Given the description of an element on the screen output the (x, y) to click on. 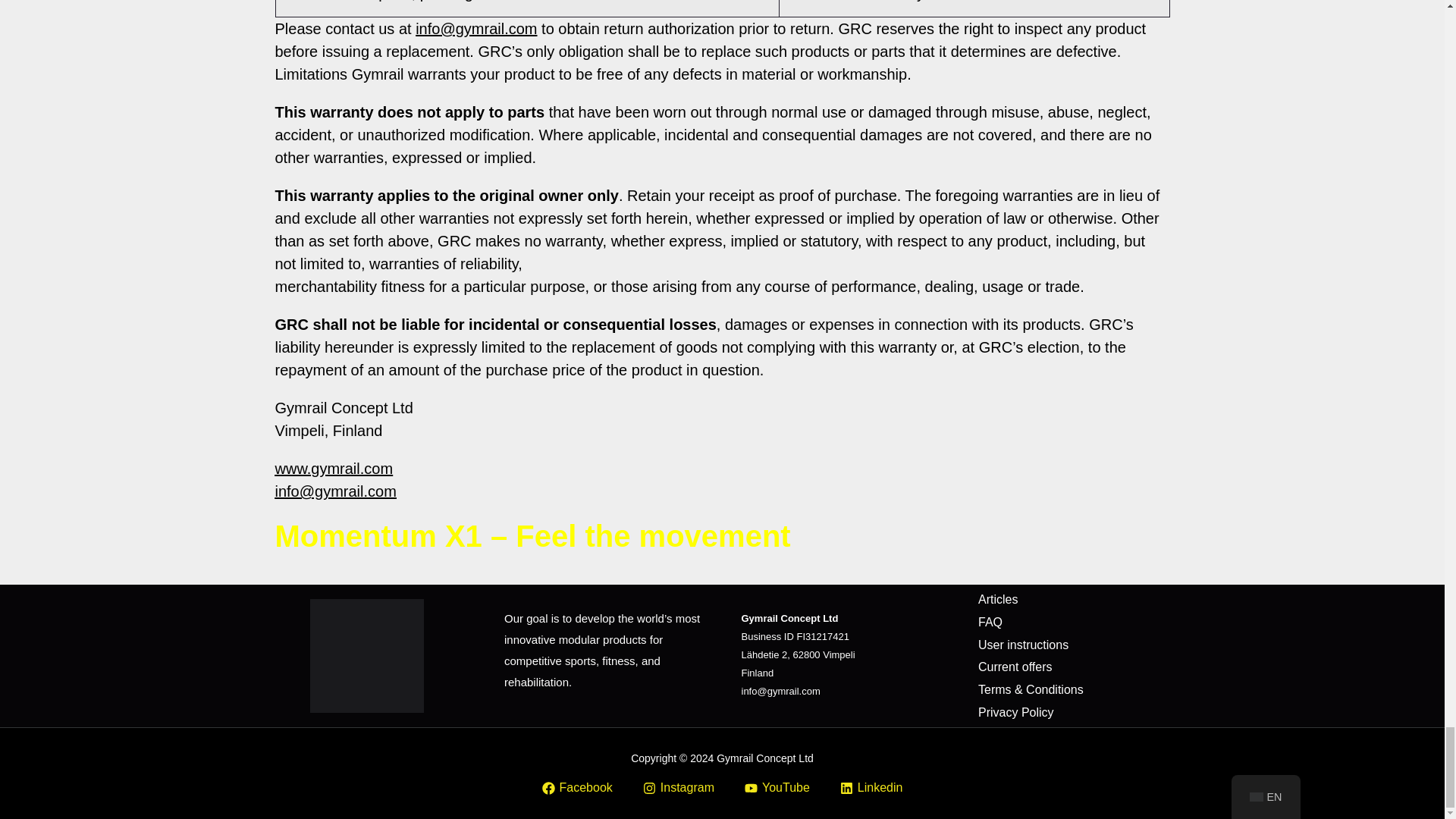
YouTube (776, 788)
Privacy Policy (1016, 712)
Articles (997, 599)
FAQ (990, 621)
Current offers (1015, 667)
User instructions (1023, 644)
Facebook (576, 788)
www.gymrail.com (334, 468)
Linkedin (871, 788)
Instagram (678, 788)
